Given the description of an element on the screen output the (x, y) to click on. 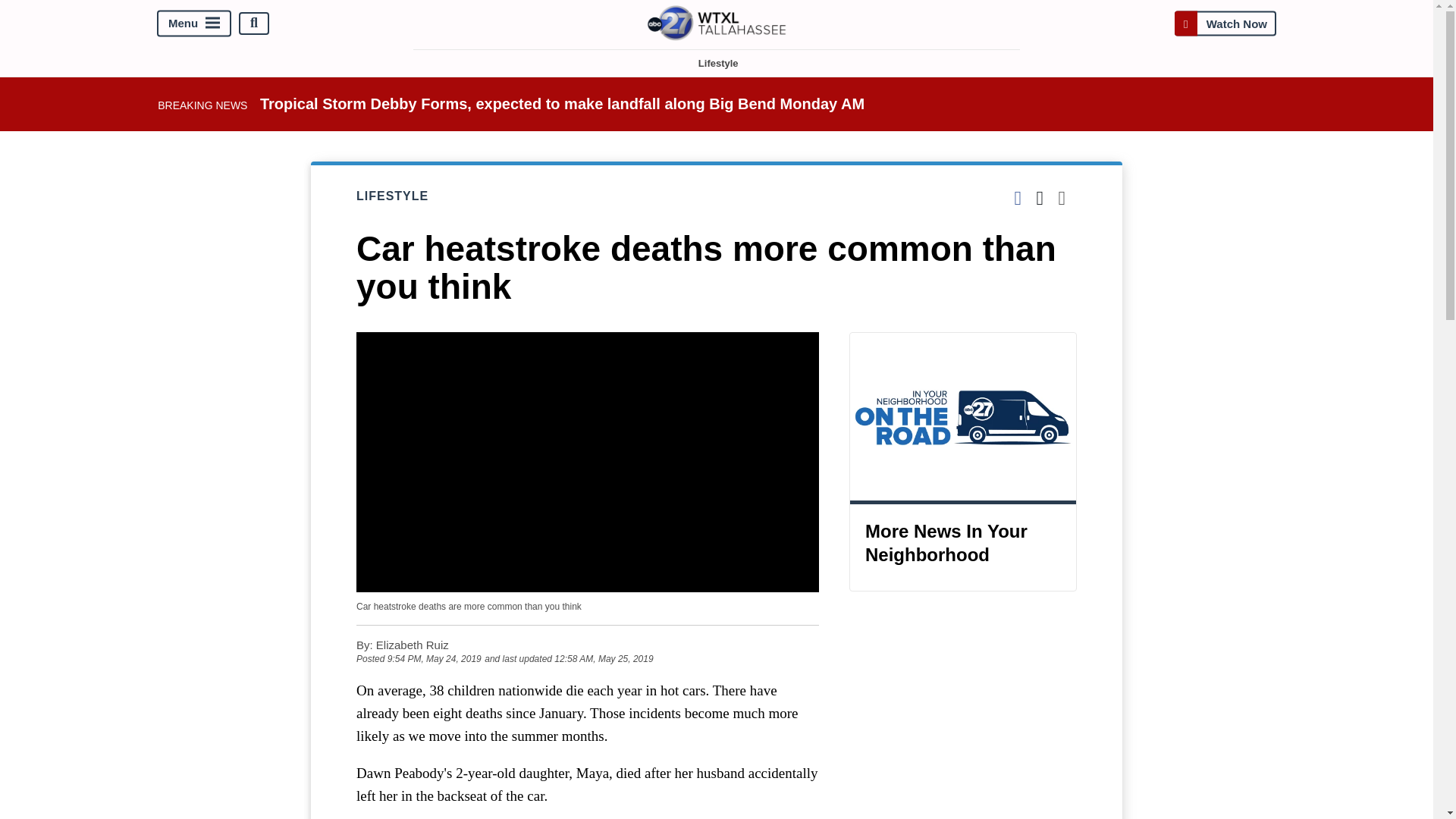
Watch Now (1224, 22)
Menu (194, 22)
